Given the description of an element on the screen output the (x, y) to click on. 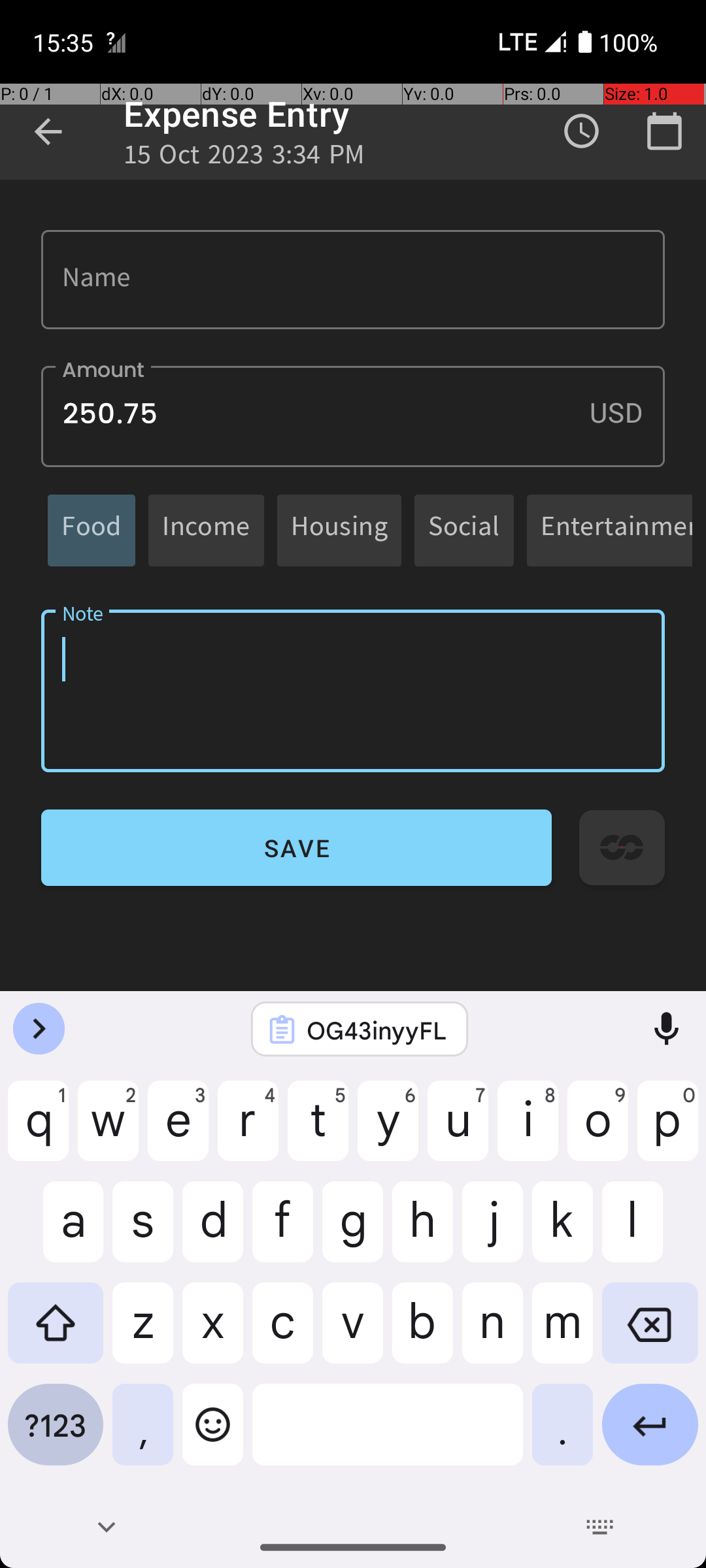
250.75 Element type: android.widget.EditText (352, 416)
OG43inyyFL Element type: android.widget.TextView (376, 1029)
